Given the description of an element on the screen output the (x, y) to click on. 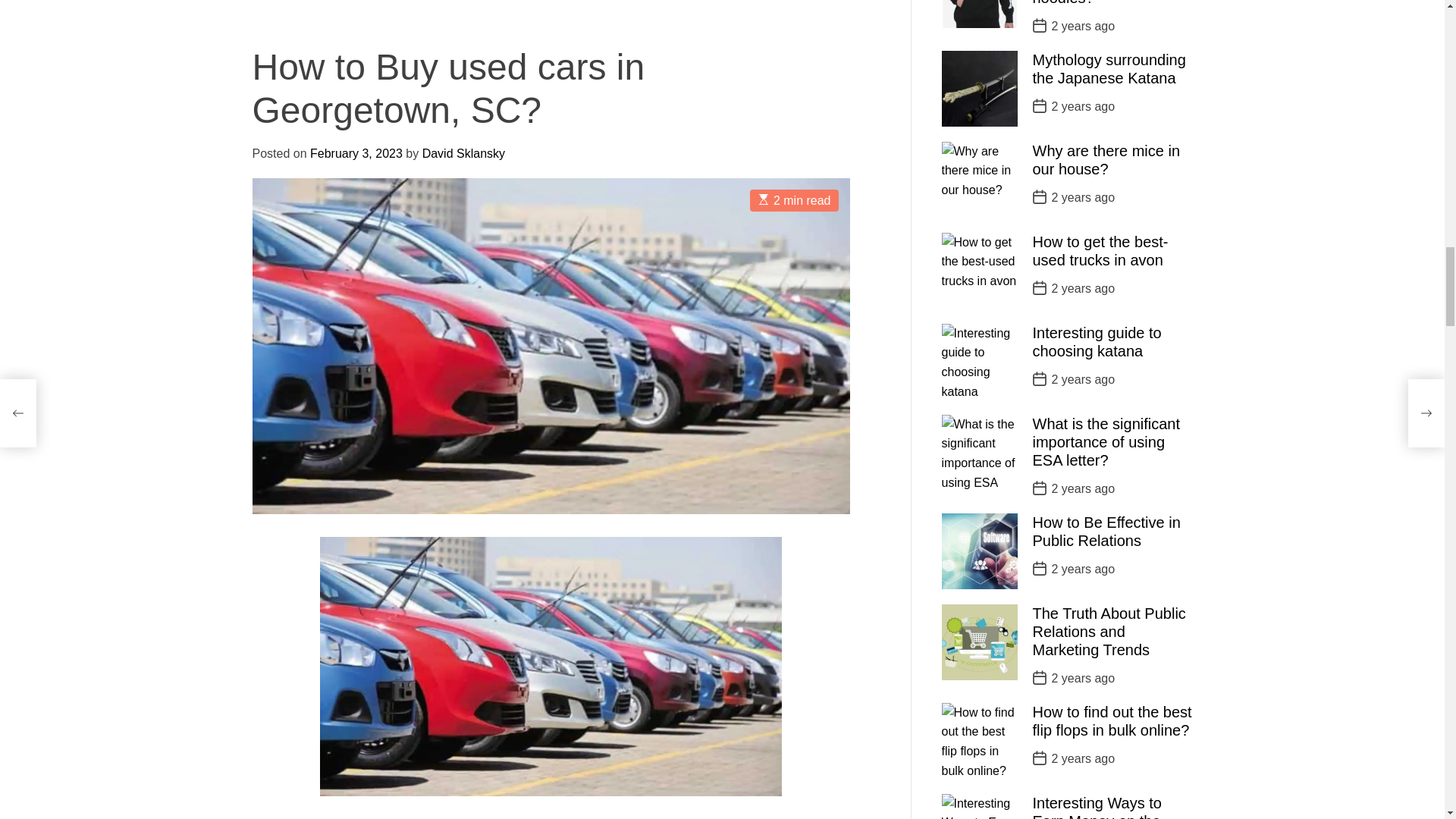
Drive using the used cars at Sewell, New Jersey (544, 431)
David Sklansky (601, 136)
David Sklansky (325, 113)
Remote Jobs in New York: Balancing Work and City Life (400, 9)
A Guide to Buy Here Pay Here Dealer Near The Montclair (340, 749)
Buy Here Pay Here In Montclair Simplified (699, 9)
David Sklansky (335, 440)
